Given the description of an element on the screen output the (x, y) to click on. 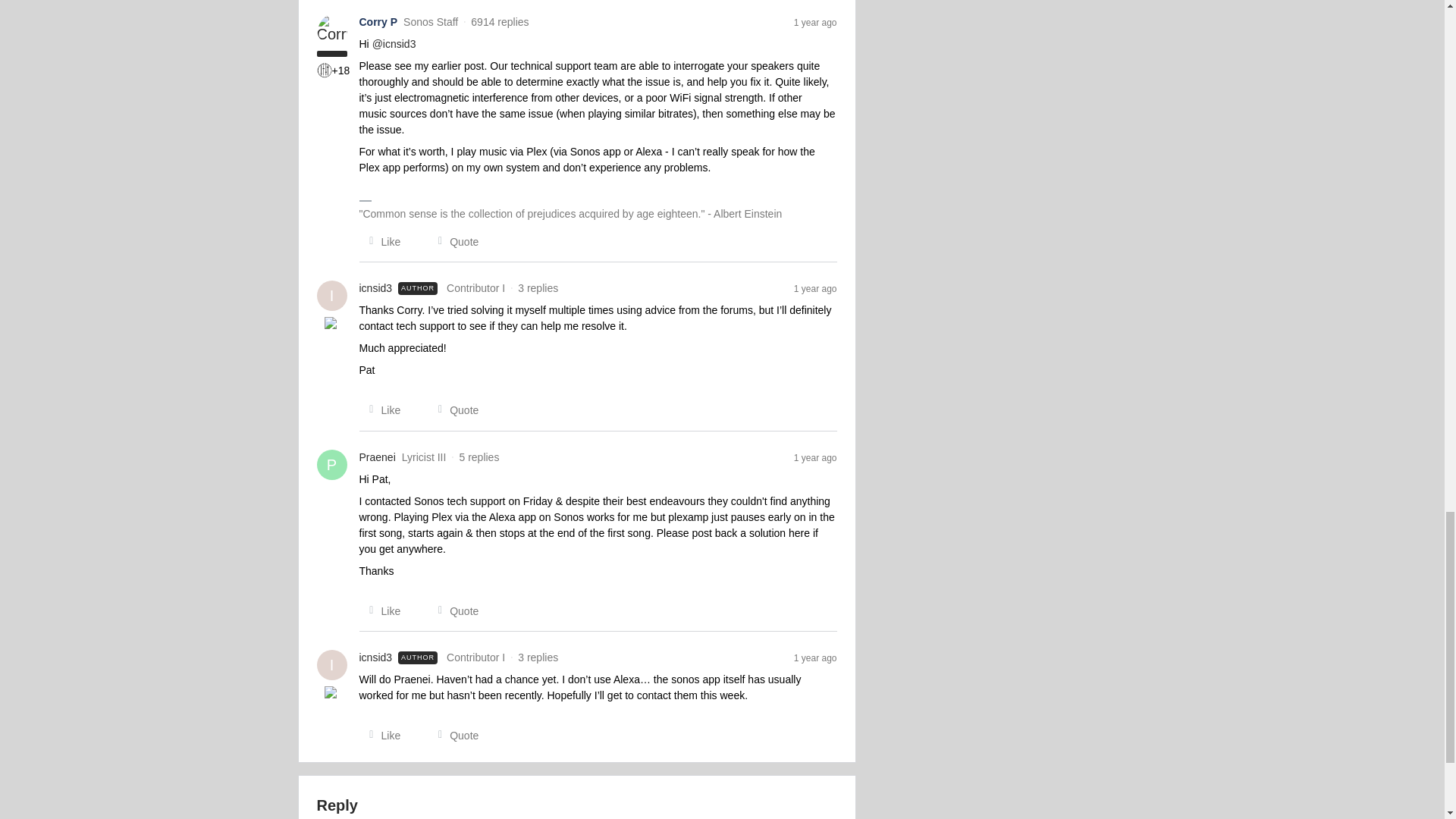
Praenei (377, 457)
Meet and greet (331, 693)
icnsid3 (376, 657)
Meet and greet (331, 324)
Corry P (378, 22)
icnsid3 (376, 288)
Mixing it up III (324, 70)
